Given the description of an element on the screen output the (x, y) to click on. 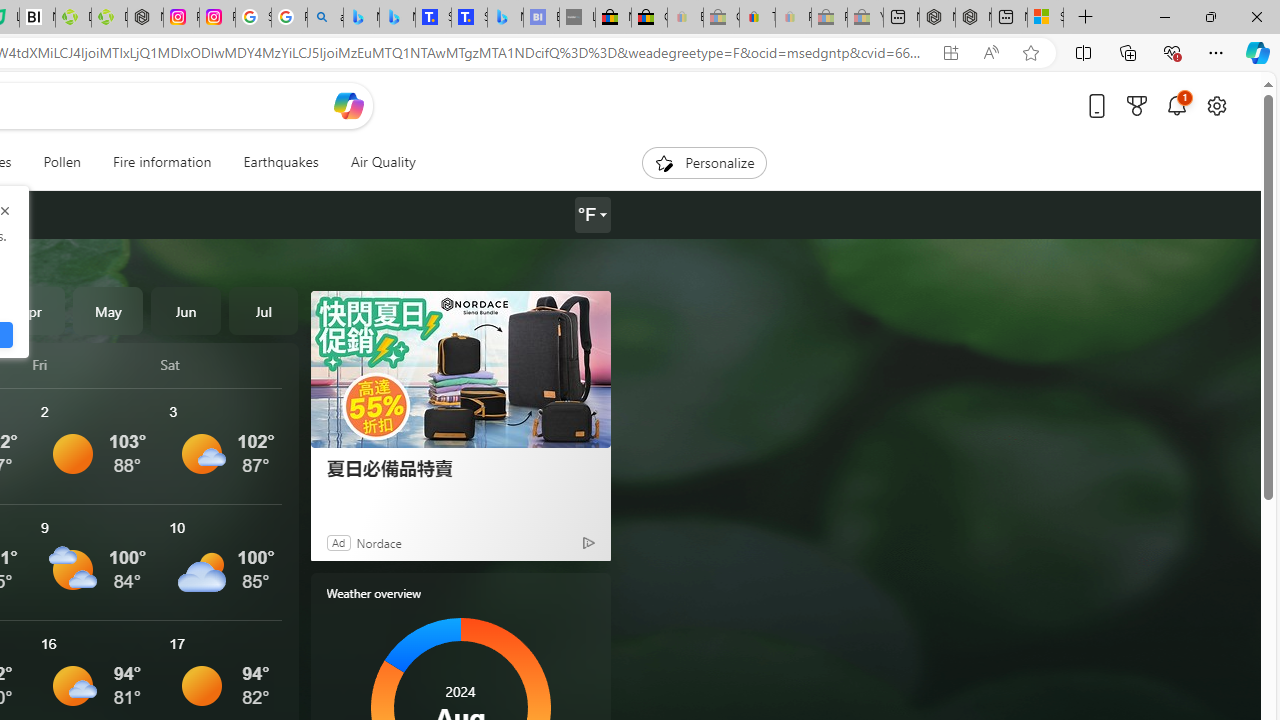
May (107, 310)
Jun (186, 310)
Payments Terms of Use | eBay.com - Sleeping (793, 17)
Fri (93, 363)
Pollen (61, 162)
Earthquakes (280, 162)
Nvidia va a poner a prueba la paciencia de los inversores (37, 17)
Fire information (162, 162)
